Given the description of an element on the screen output the (x, y) to click on. 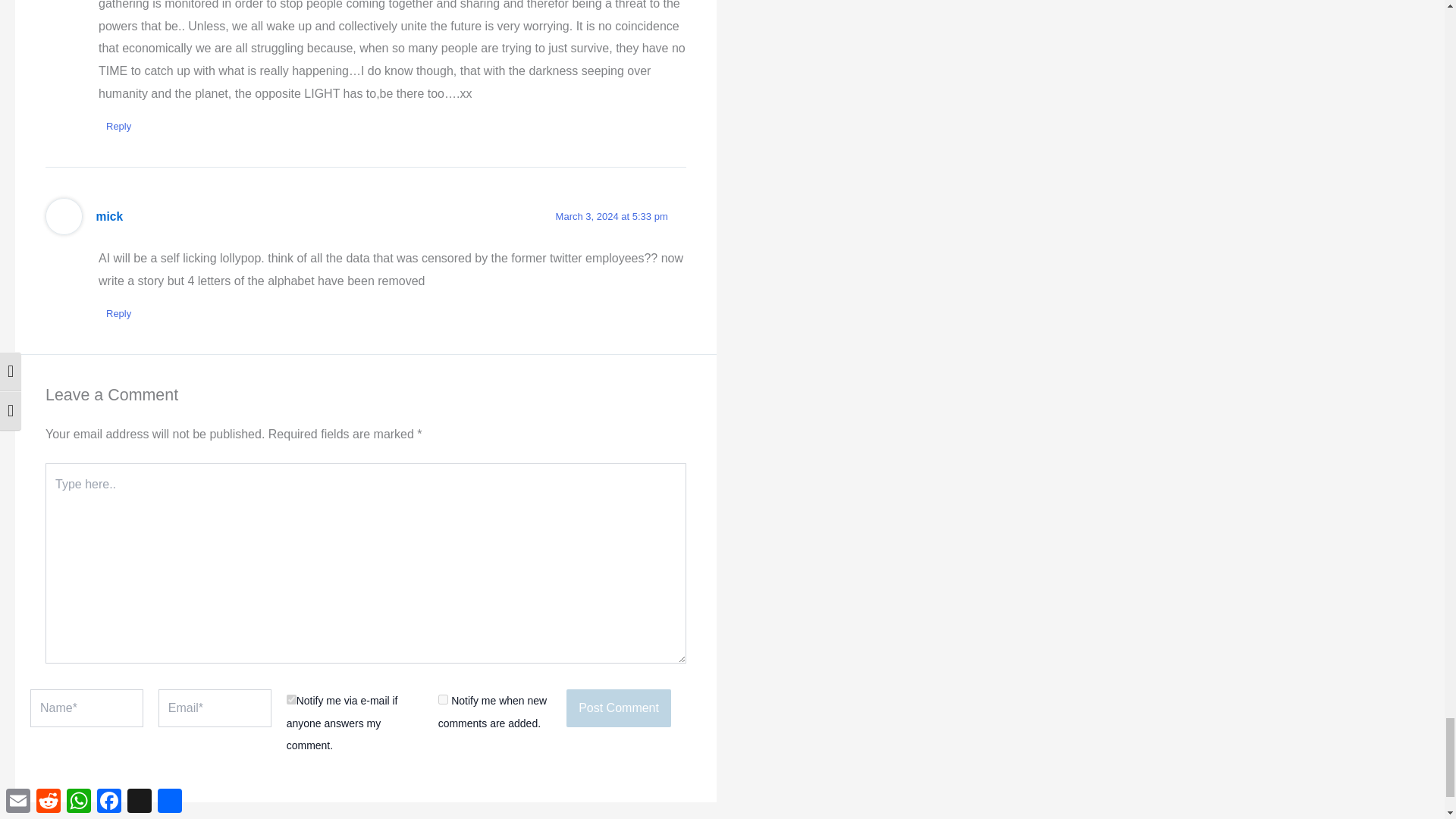
Post Comment (618, 707)
1 (443, 699)
on (291, 699)
